Given the description of an element on the screen output the (x, y) to click on. 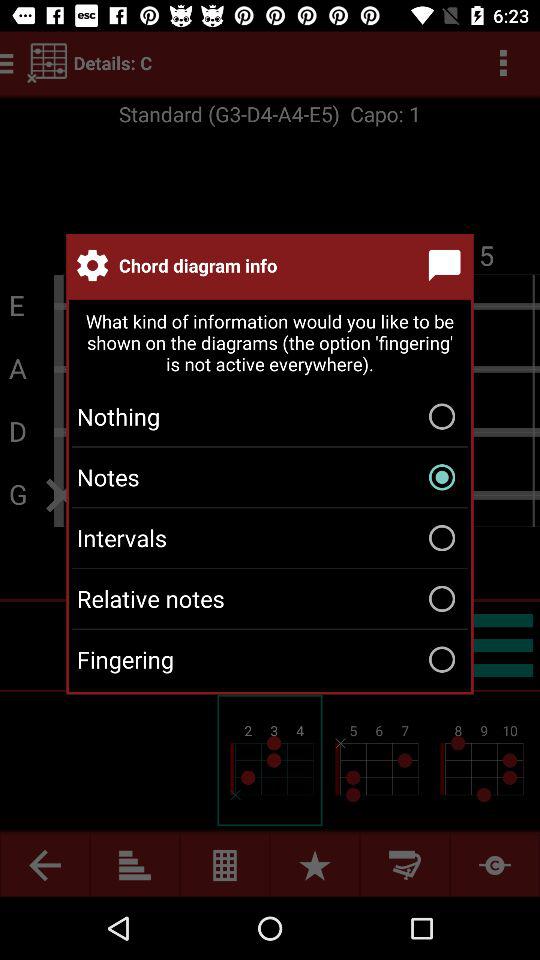
select icon above relative notes item (269, 537)
